Given the description of an element on the screen output the (x, y) to click on. 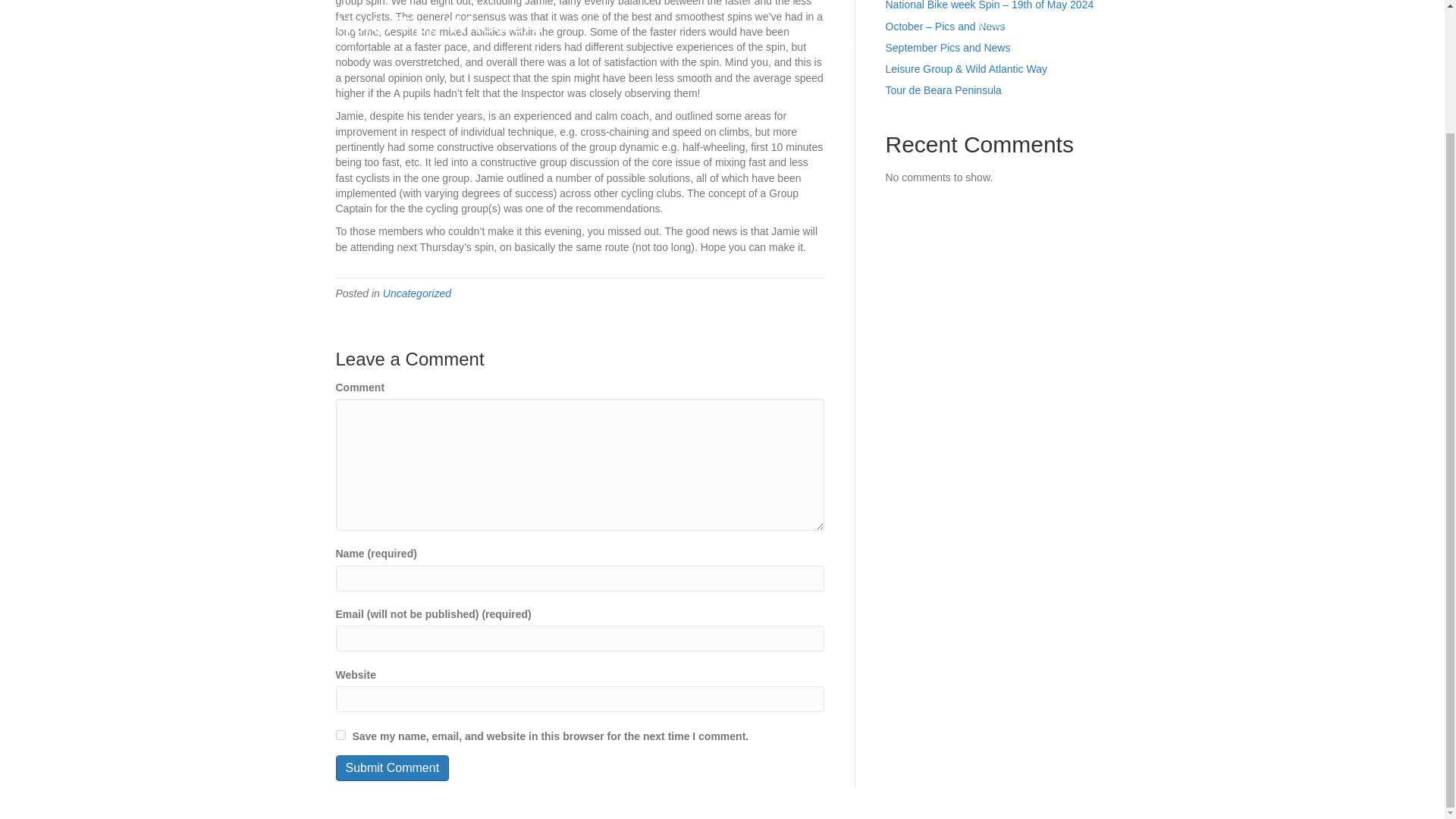
yes (339, 735)
Uncategorized (416, 293)
September Pics and News (947, 47)
Submit Comment (391, 767)
Tour de Beara Peninsula (943, 90)
Submit Comment (391, 767)
